Given the description of an element on the screen output the (x, y) to click on. 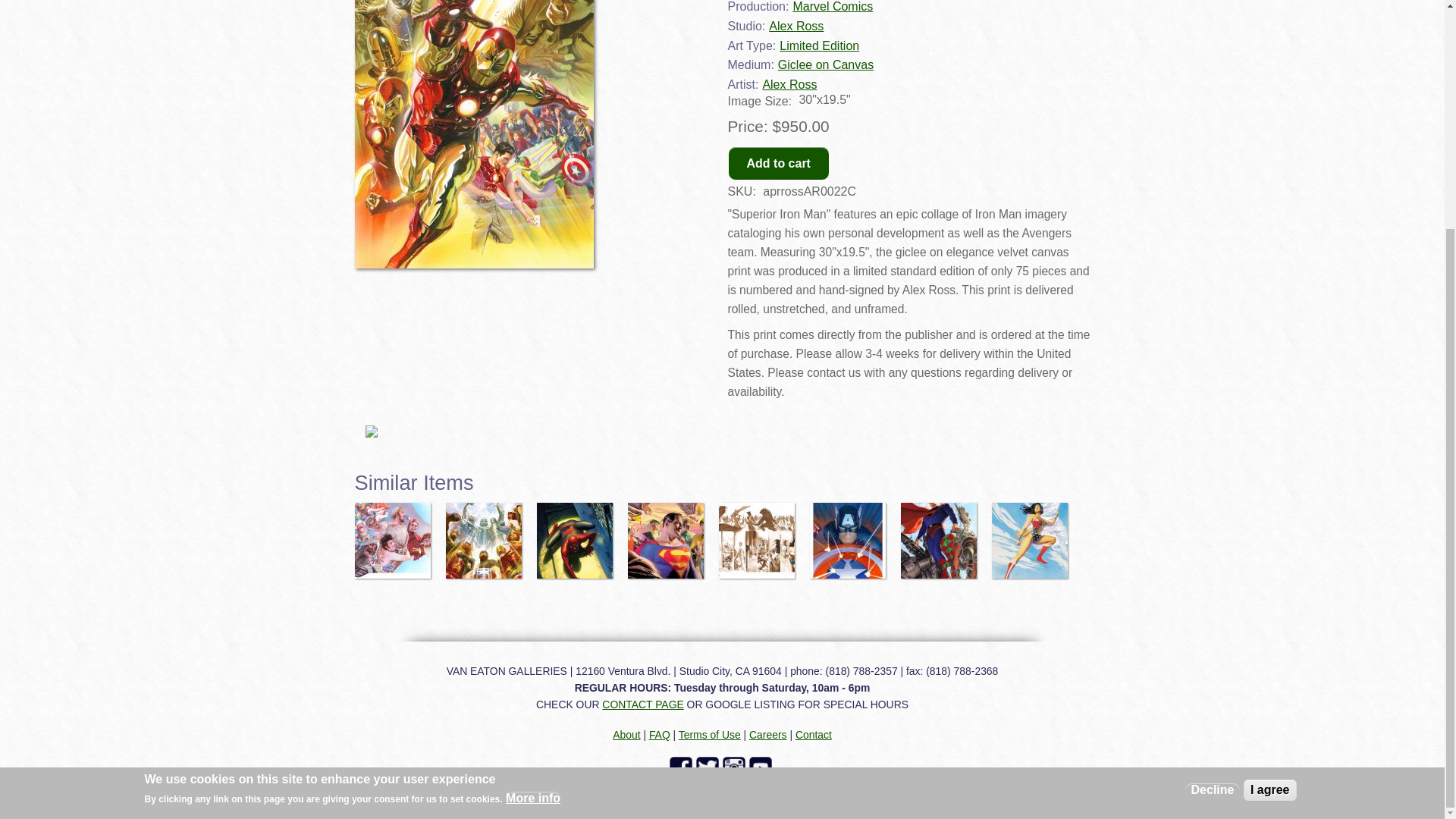
Limited Edition (818, 45)
Alex Ross (788, 83)
Add to cart (778, 163)
Follow Van Eaton Galleries on YouTube (762, 766)
Follow Van Eaton Galleries on Instagram (735, 766)
Follow Van Eaton Galleries on Facebook (681, 766)
Web and Business Development (1012, 792)
Giclee on Canvas (825, 64)
Marvel Comics (832, 6)
Alex Ross (796, 25)
Follow Van Eaton Galleries on Twitter (708, 766)
